Given the description of an element on the screen output the (x, y) to click on. 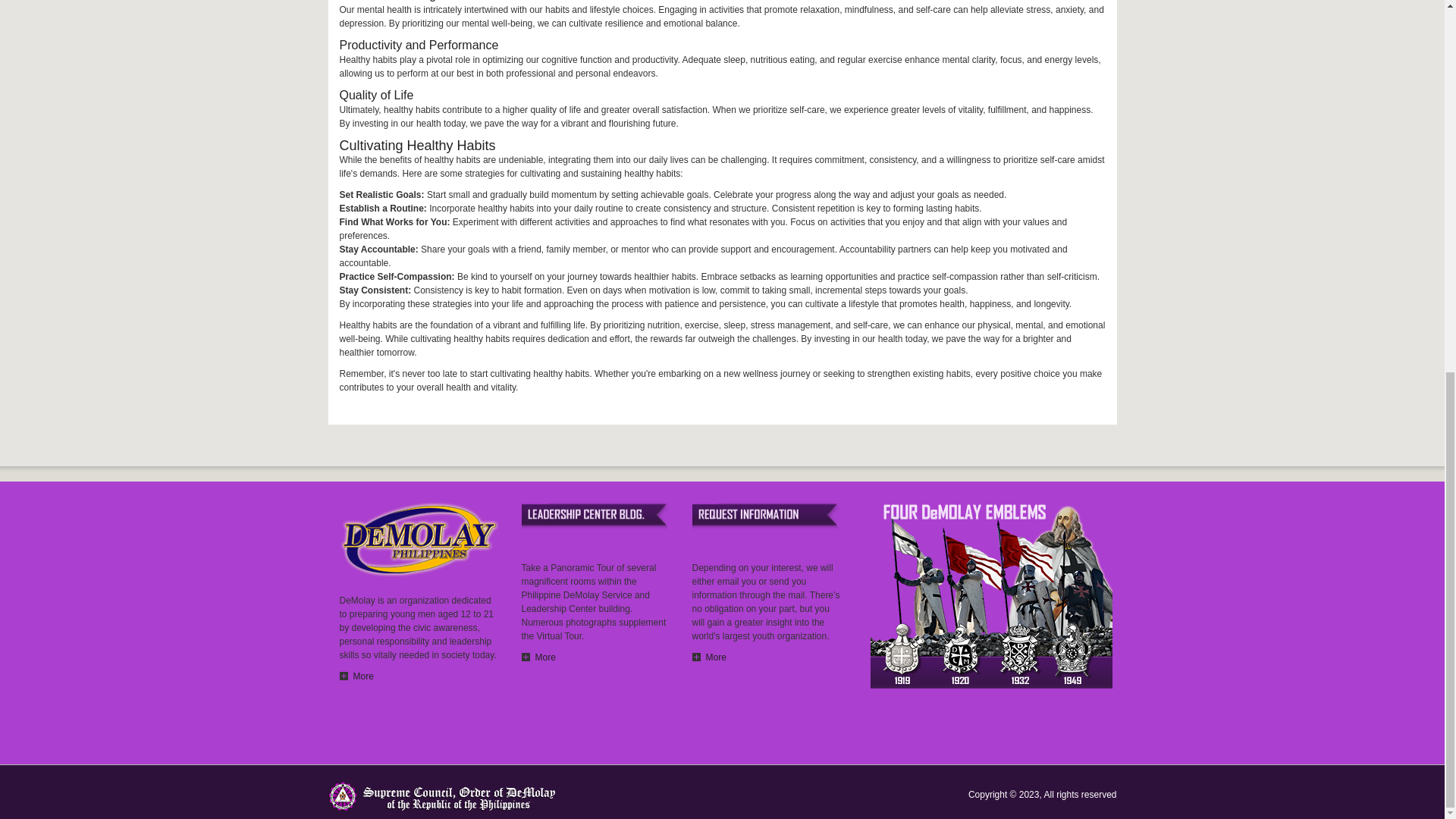
More (708, 657)
More (538, 657)
More (356, 676)
